Given the description of an element on the screen output the (x, y) to click on. 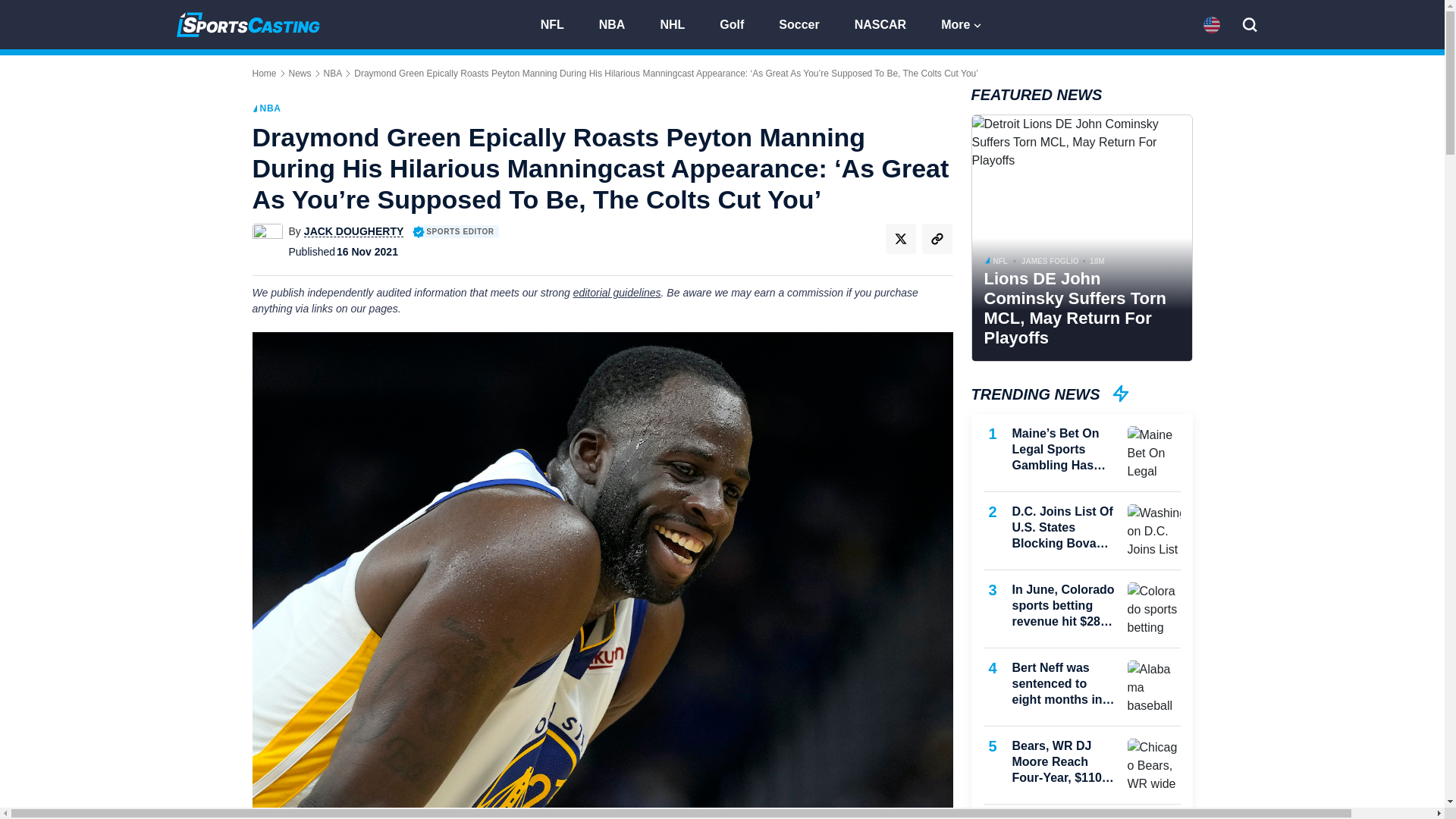
Home (263, 72)
NBA (618, 22)
More (962, 22)
NHL (679, 22)
Golf (738, 22)
News (299, 72)
Soccer (805, 22)
NBA (332, 72)
NFL (558, 22)
NASCAR (887, 22)
